Given the description of an element on the screen output the (x, y) to click on. 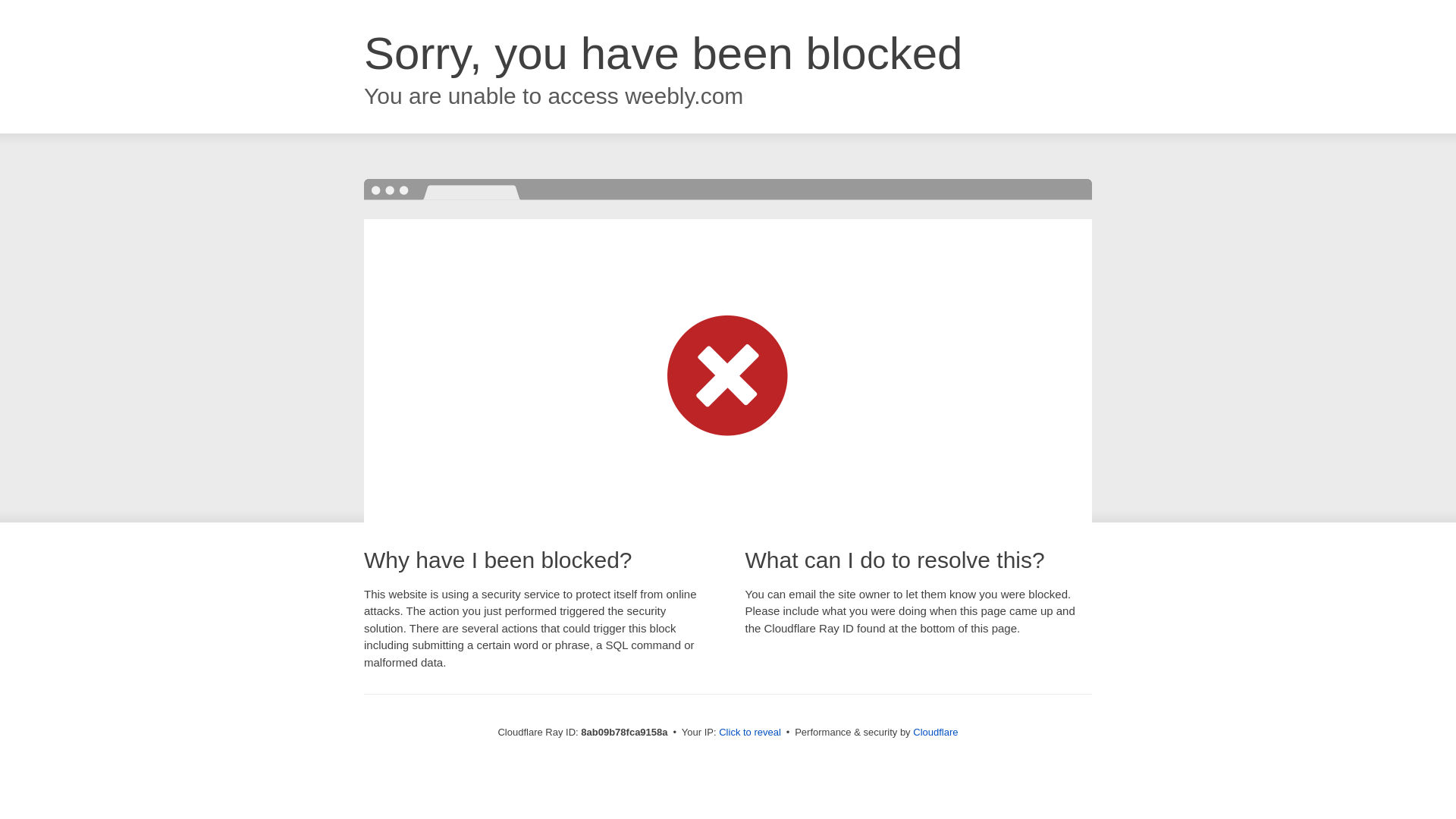
Cloudflare (935, 731)
Click to reveal (749, 732)
